Given the description of an element on the screen output the (x, y) to click on. 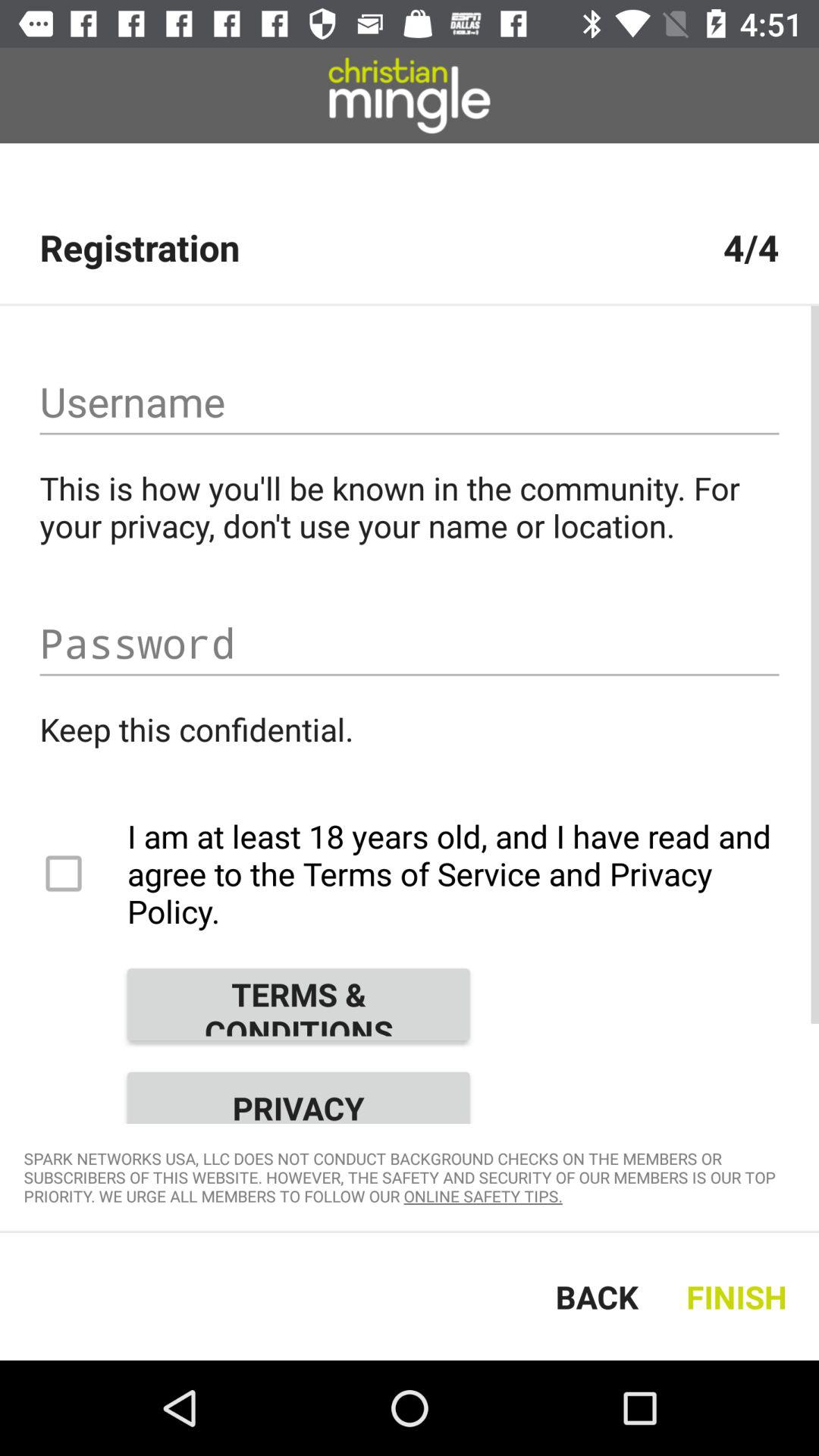
press icon next to the finish (596, 1296)
